Given the description of an element on the screen output the (x, y) to click on. 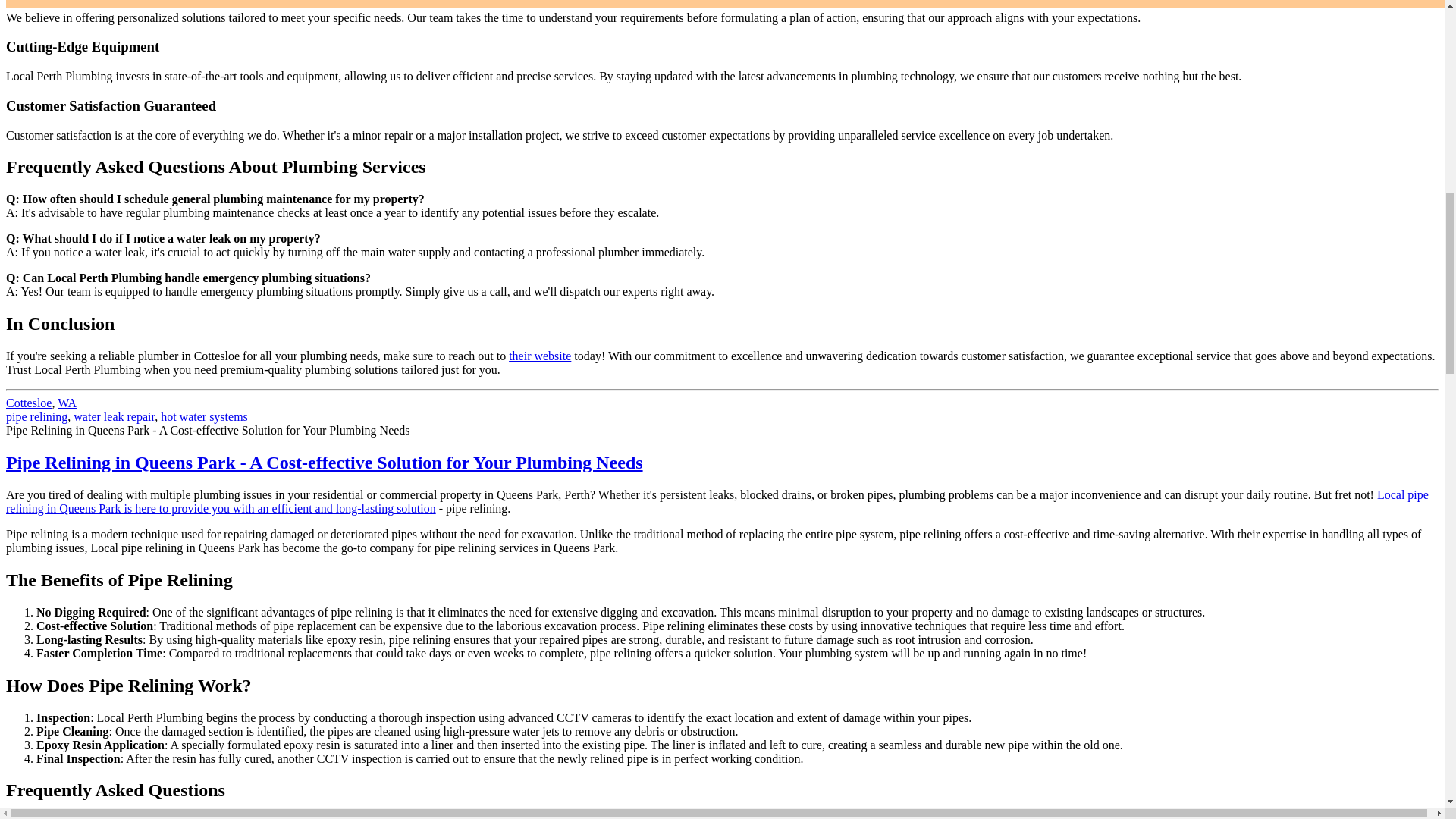
their website (539, 355)
Cottesloe (27, 402)
water leak repair (114, 416)
pipe relining (35, 416)
hot water systems (203, 416)
WA (67, 402)
